Given the description of an element on the screen output the (x, y) to click on. 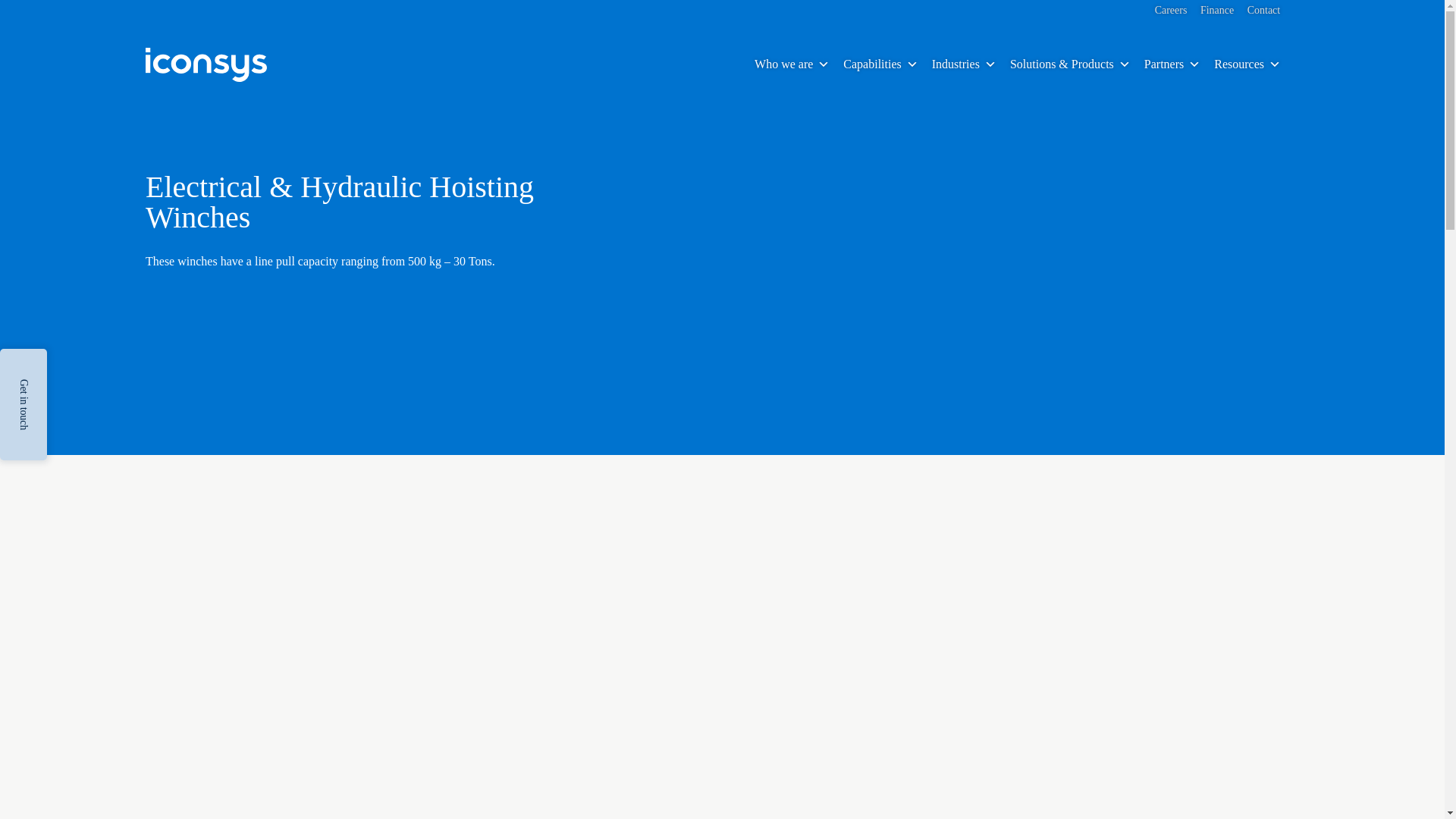
Careers (1171, 9)
Finance (1216, 9)
Who we are (791, 64)
Capabilities (879, 64)
Contact (1264, 9)
